Given the description of an element on the screen output the (x, y) to click on. 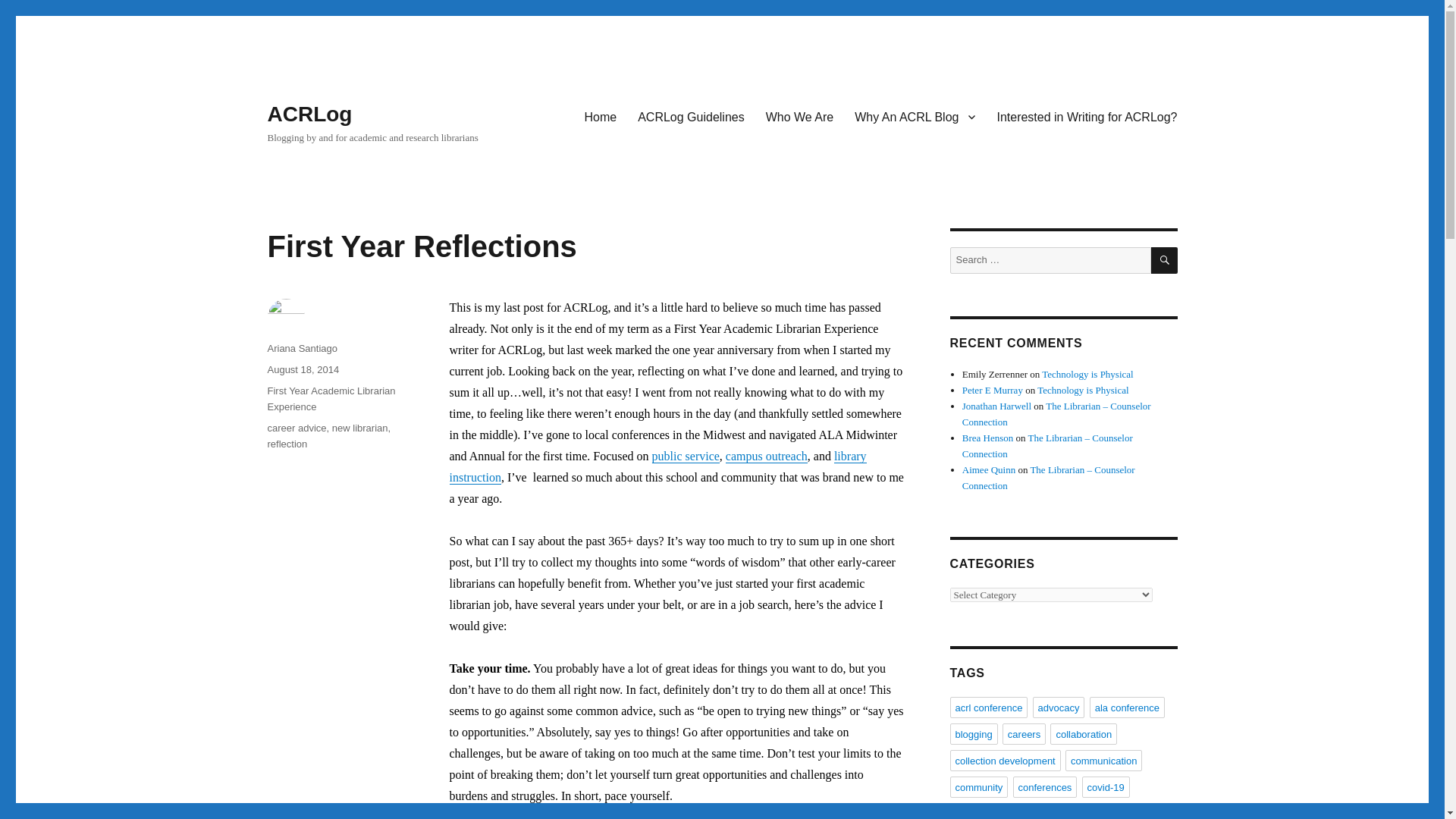
August 18, 2014 (302, 369)
Technology is Physical (1082, 389)
Home (600, 116)
Why An ACRL Blog (914, 116)
ACRLog Guidelines (691, 116)
public service (685, 455)
Aimee Quinn (988, 469)
Jonathan Harwell (996, 405)
First Year Academic Librarian Experience (330, 398)
ACRLog (309, 114)
